Given the description of an element on the screen output the (x, y) to click on. 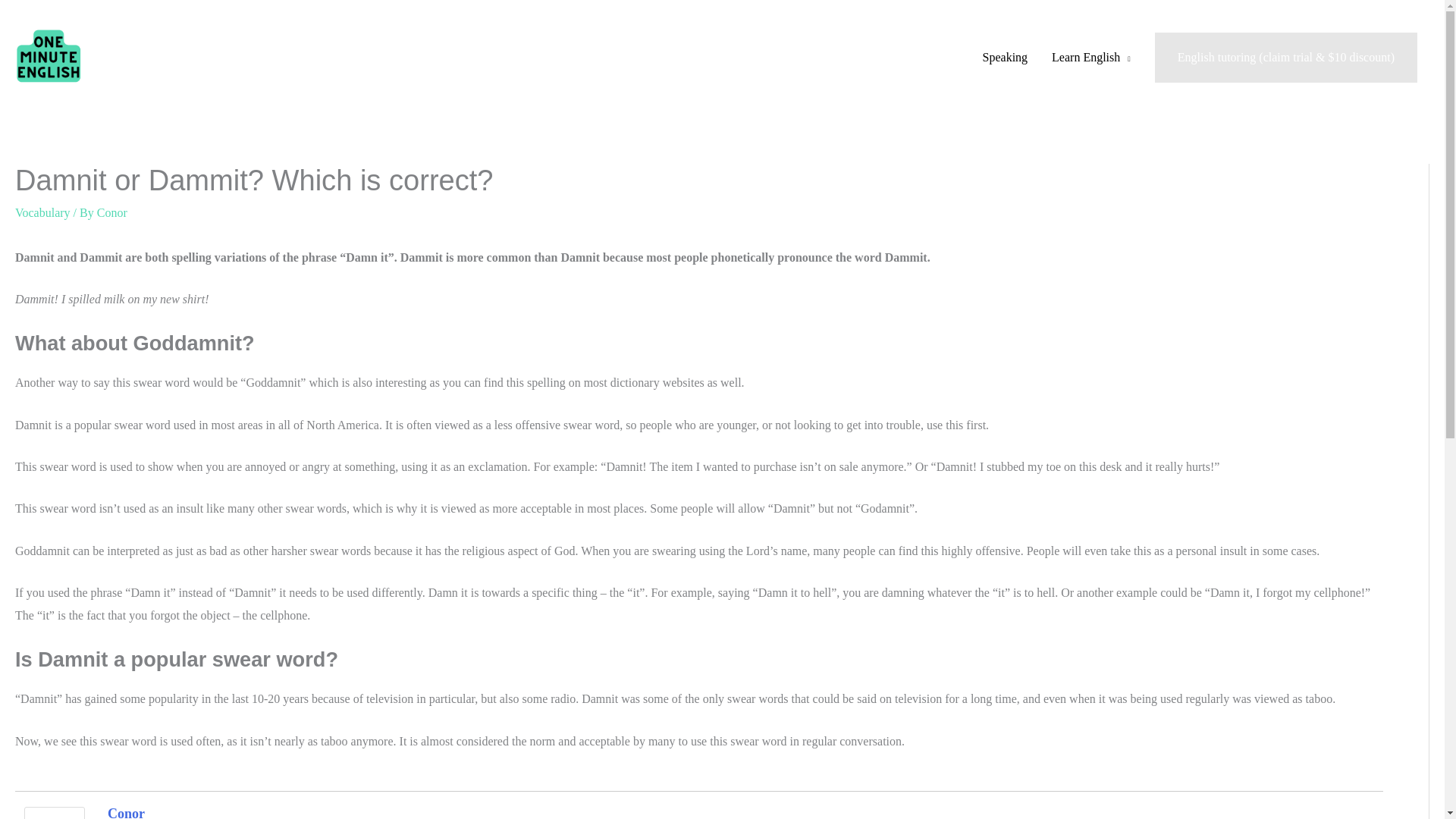
Conor (125, 812)
Speaking (1006, 57)
Vocabulary (41, 212)
Conor (112, 212)
Learn English (1090, 57)
View all posts by Conor (112, 212)
